Given the description of an element on the screen output the (x, y) to click on. 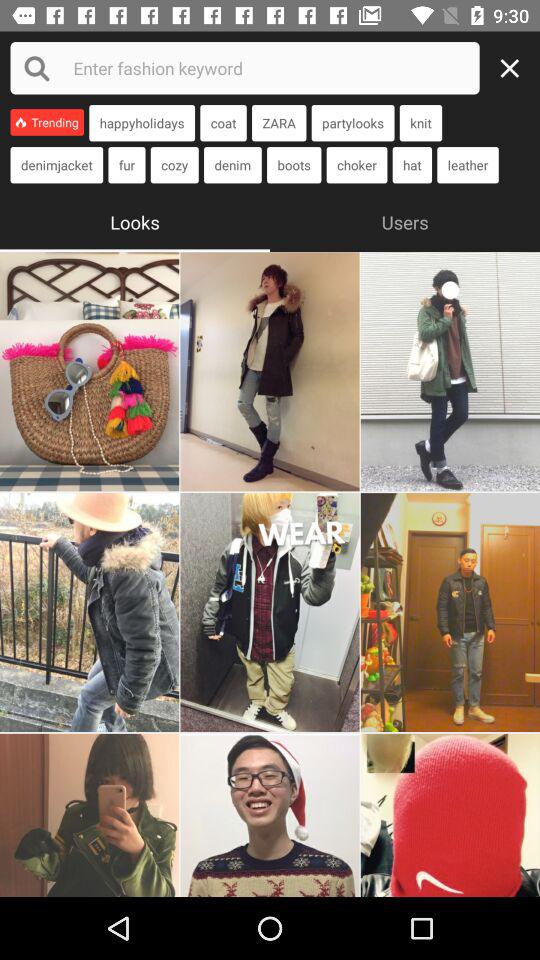
look at the image (89, 815)
